Given the description of an element on the screen output the (x, y) to click on. 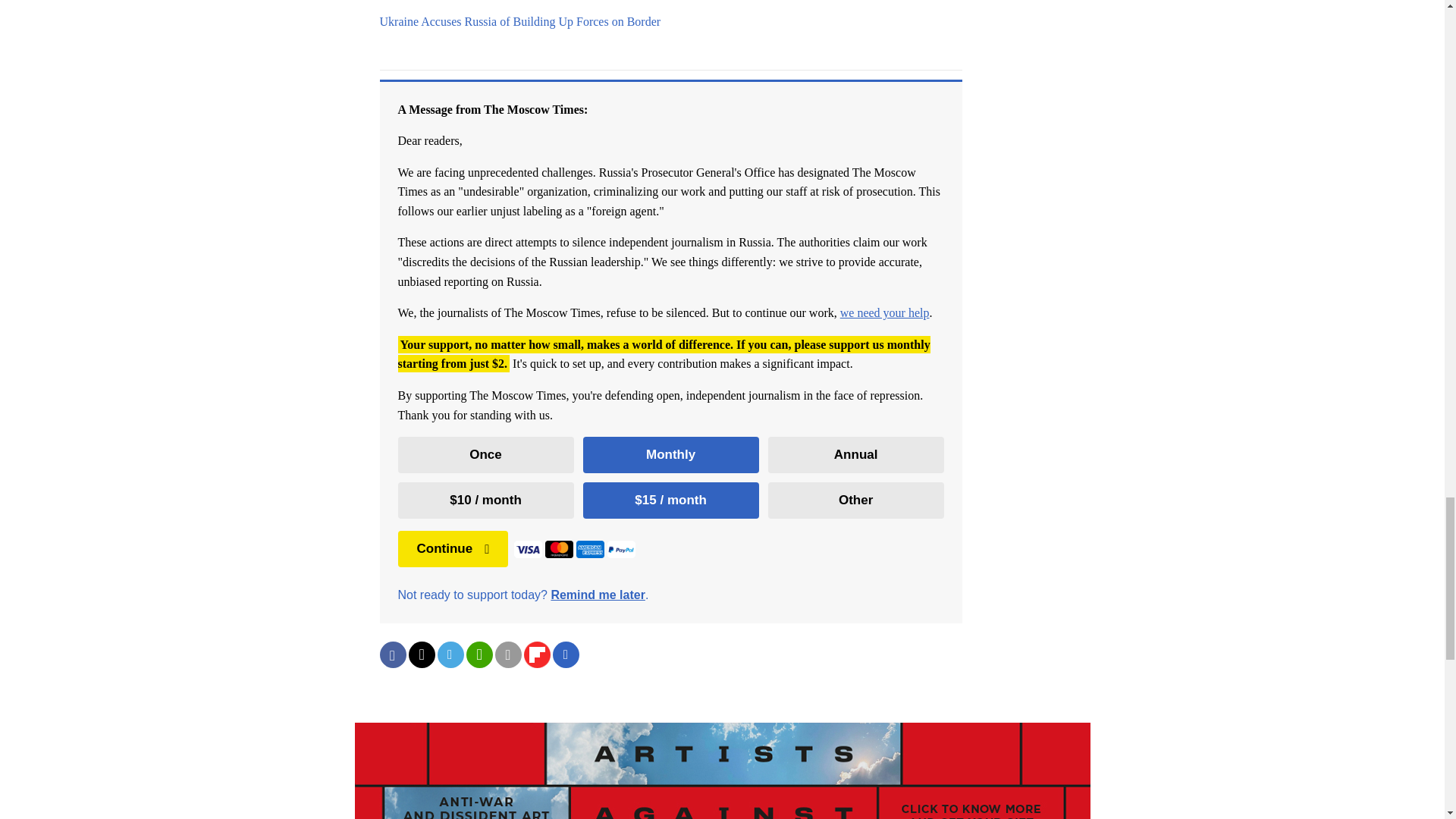
we need your help (885, 312)
Share on Facebook (392, 654)
Share on Twitter (420, 654)
Share on Flipboard (536, 654)
Share on Telegram (449, 654)
